Given the description of an element on the screen output the (x, y) to click on. 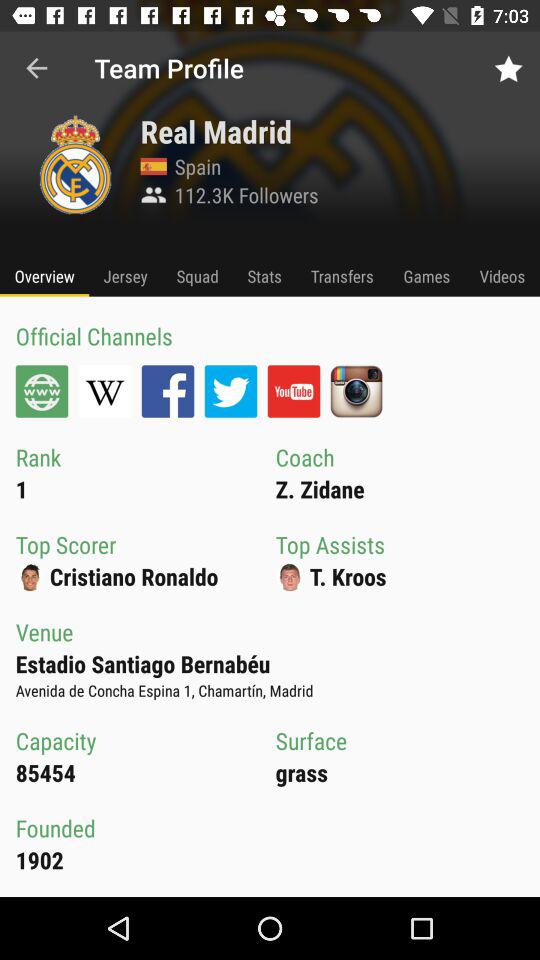
upload your official channels (230, 391)
